Given the description of an element on the screen output the (x, y) to click on. 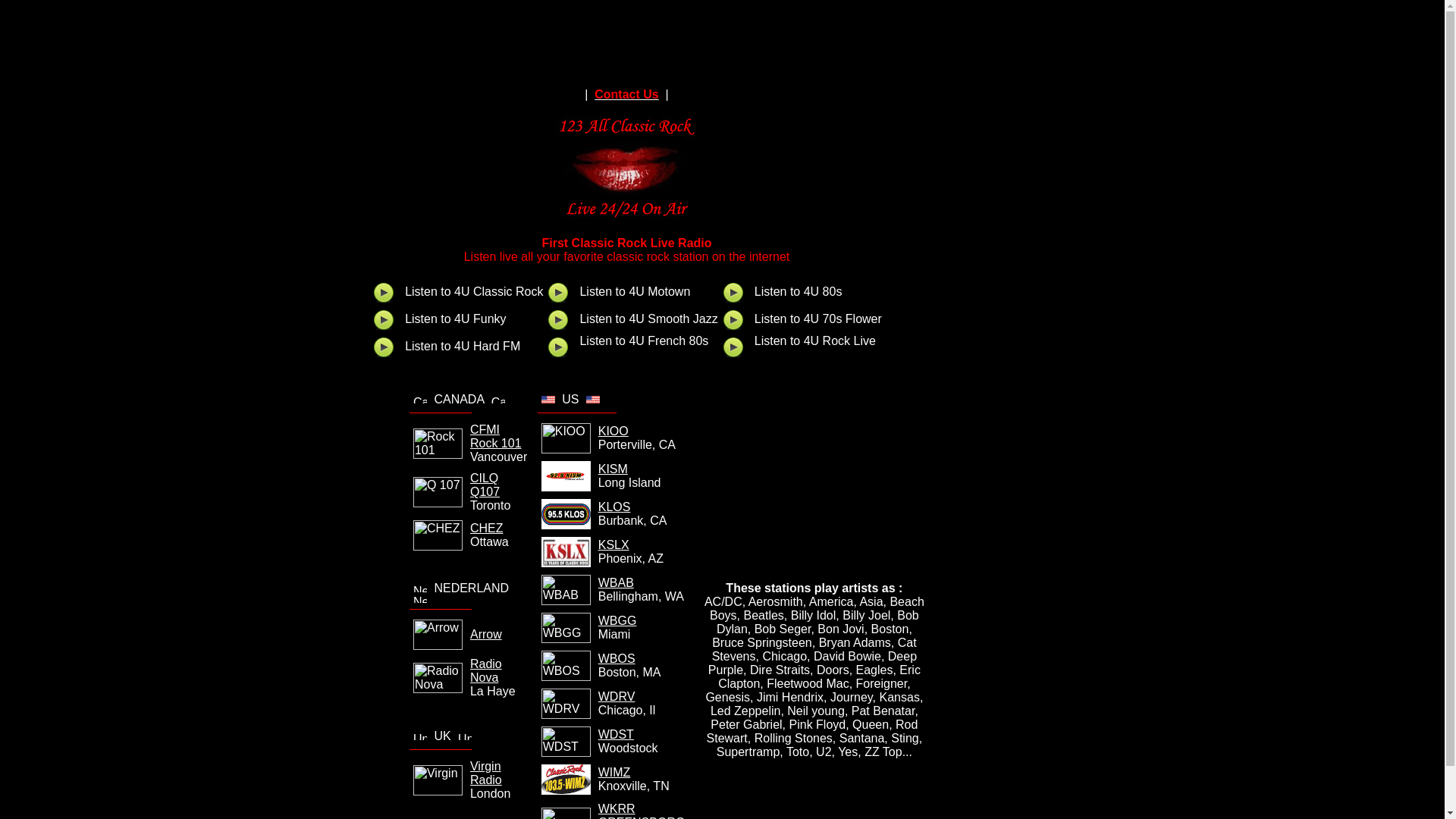
Virgin Radio Element type: text (486, 772)
KIOO Element type: text (613, 430)
KISM Element type: text (612, 468)
WBOS Element type: text (616, 658)
WDRV Element type: text (616, 696)
Advertisement Element type: hover (626, 40)
CILQ Q107 Element type: text (484, 484)
CFMI Rock 101 Element type: text (495, 436)
WDST Element type: text (615, 734)
WBAB Element type: text (615, 582)
KSLX Element type: text (613, 544)
WIMZ Element type: text (614, 771)
WBGG Element type: text (617, 620)
Arrow Element type: text (486, 633)
Radio Nova Element type: text (486, 670)
Advertisement Element type: hover (814, 486)
KLOS Element type: text (614, 506)
WKRR Element type: text (616, 808)
Contact Us Element type: text (626, 93)
CHEZ Element type: text (486, 527)
